Given the description of an element on the screen output the (x, y) to click on. 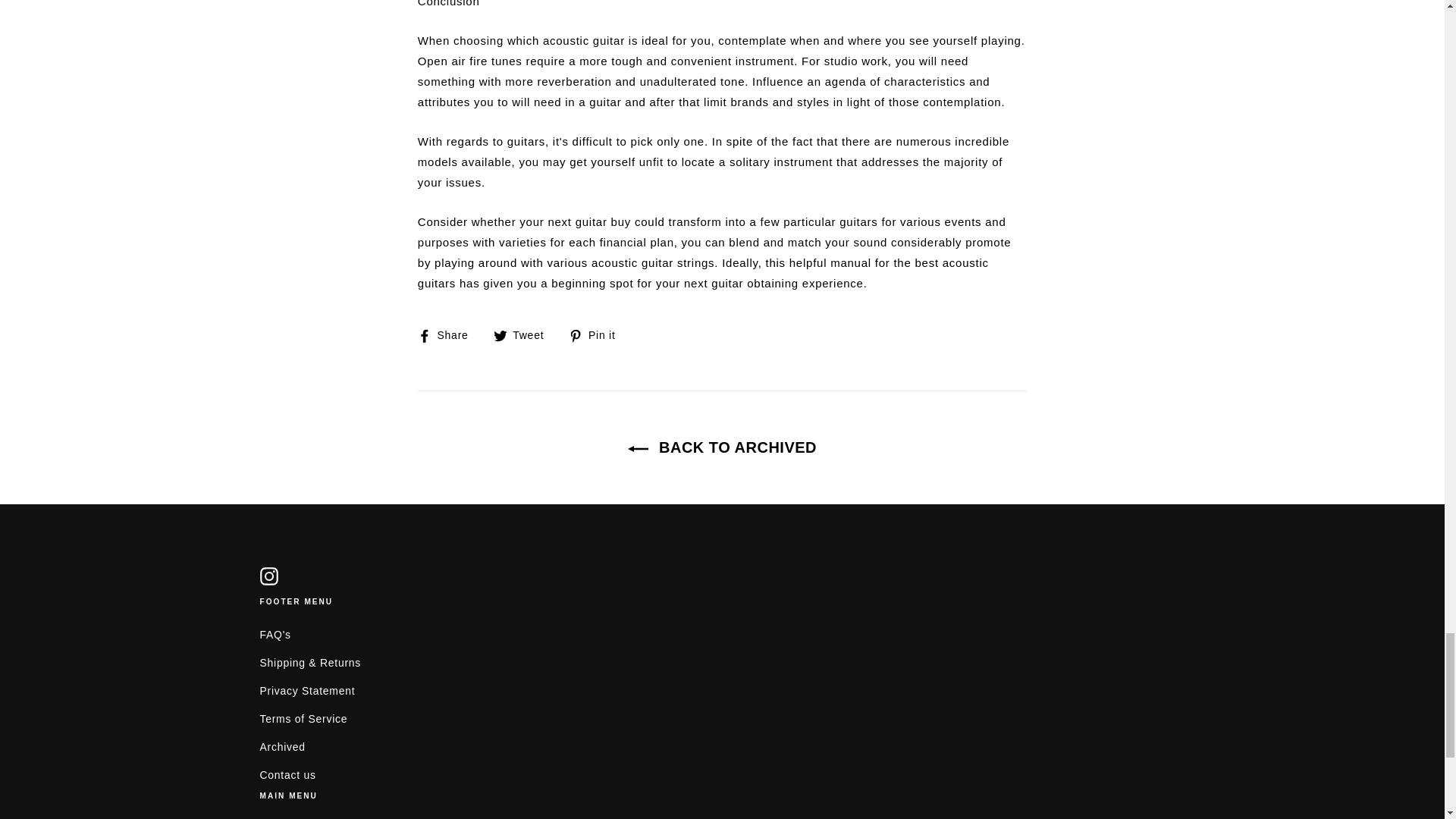
Share on Facebook (448, 334)
Tweet on Twitter (524, 334)
Pin on Pinterest (597, 334)
